Given the description of an element on the screen output the (x, y) to click on. 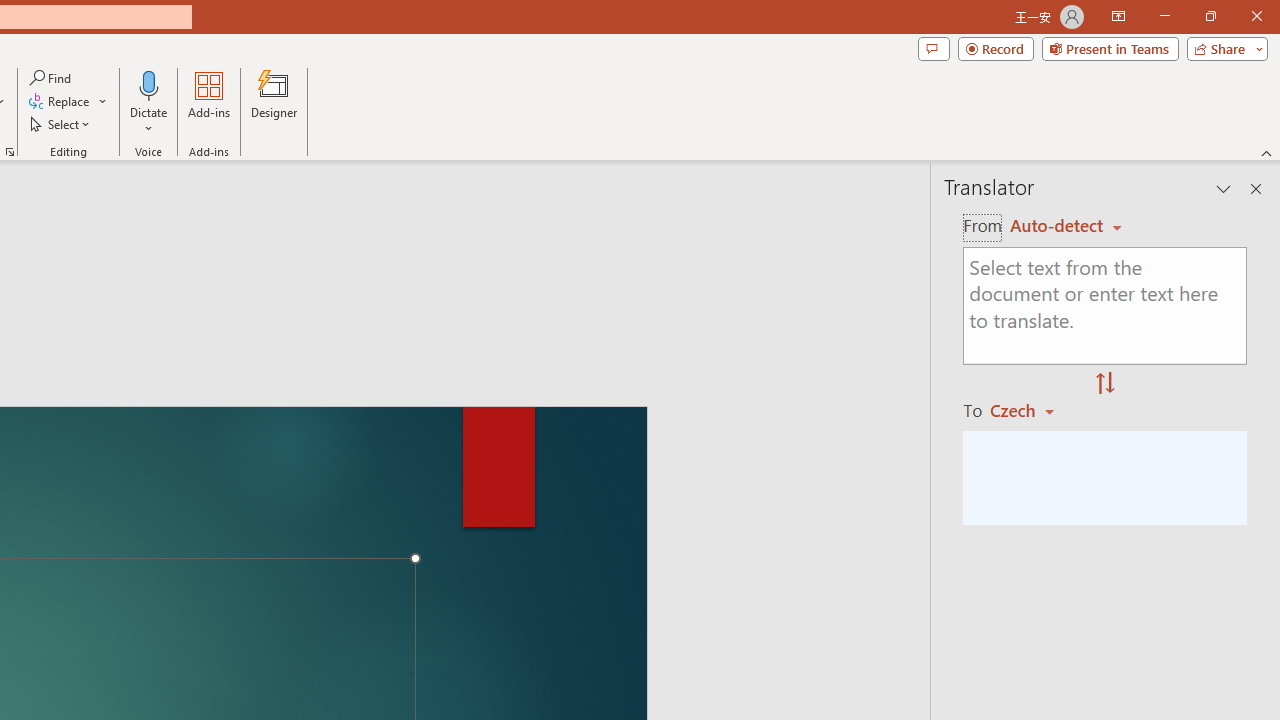
Auto-detect (1066, 225)
